Given the description of an element on the screen output the (x, y) to click on. 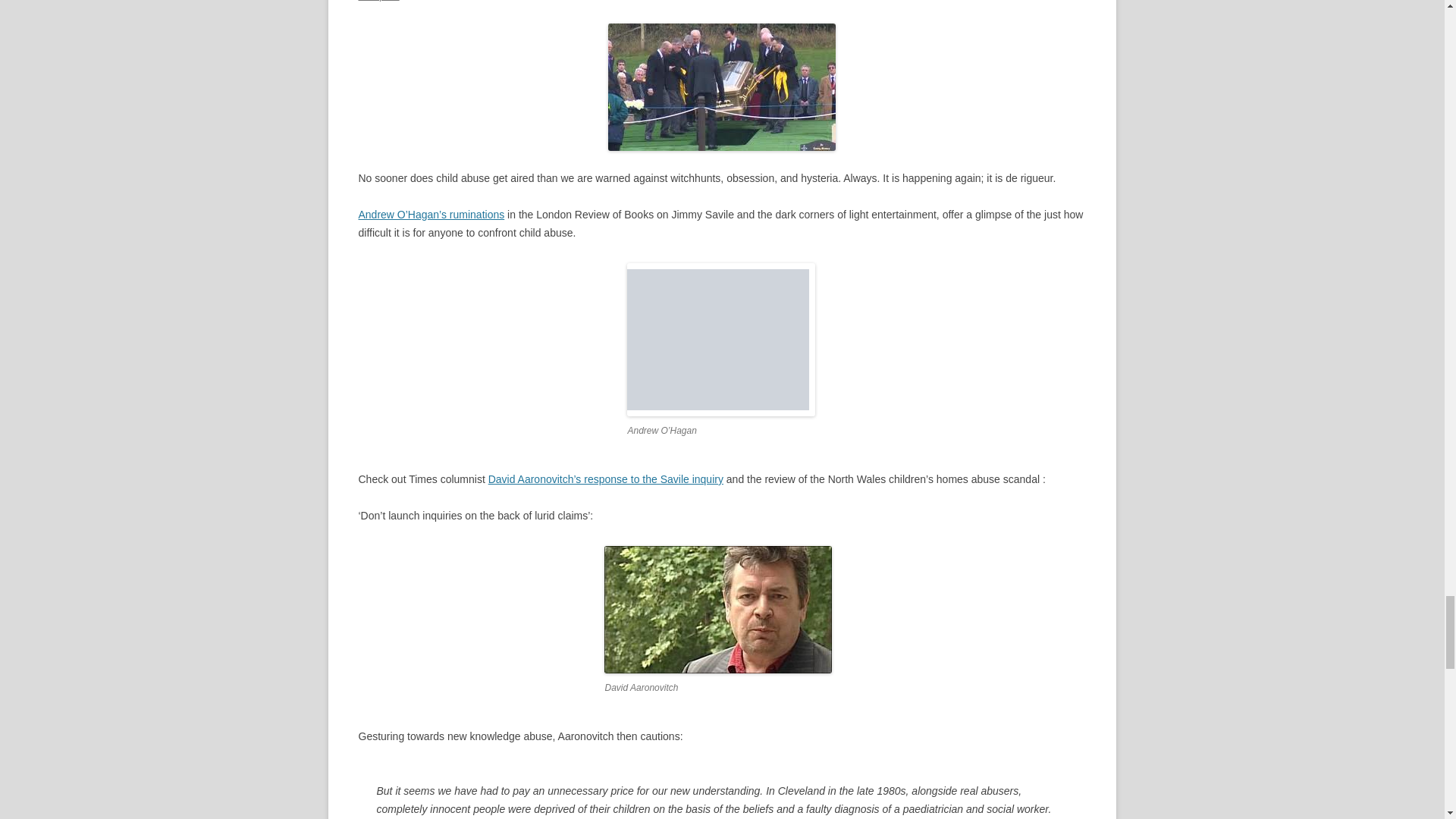
Jimmy Savile Funeral (721, 86)
David Aaronovitch, "Beware a modern Salem over child abuse" (605, 479)
David Aaronovitch (717, 609)
Andrew O'Hagan (721, 339)
